Given the description of an element on the screen output the (x, y) to click on. 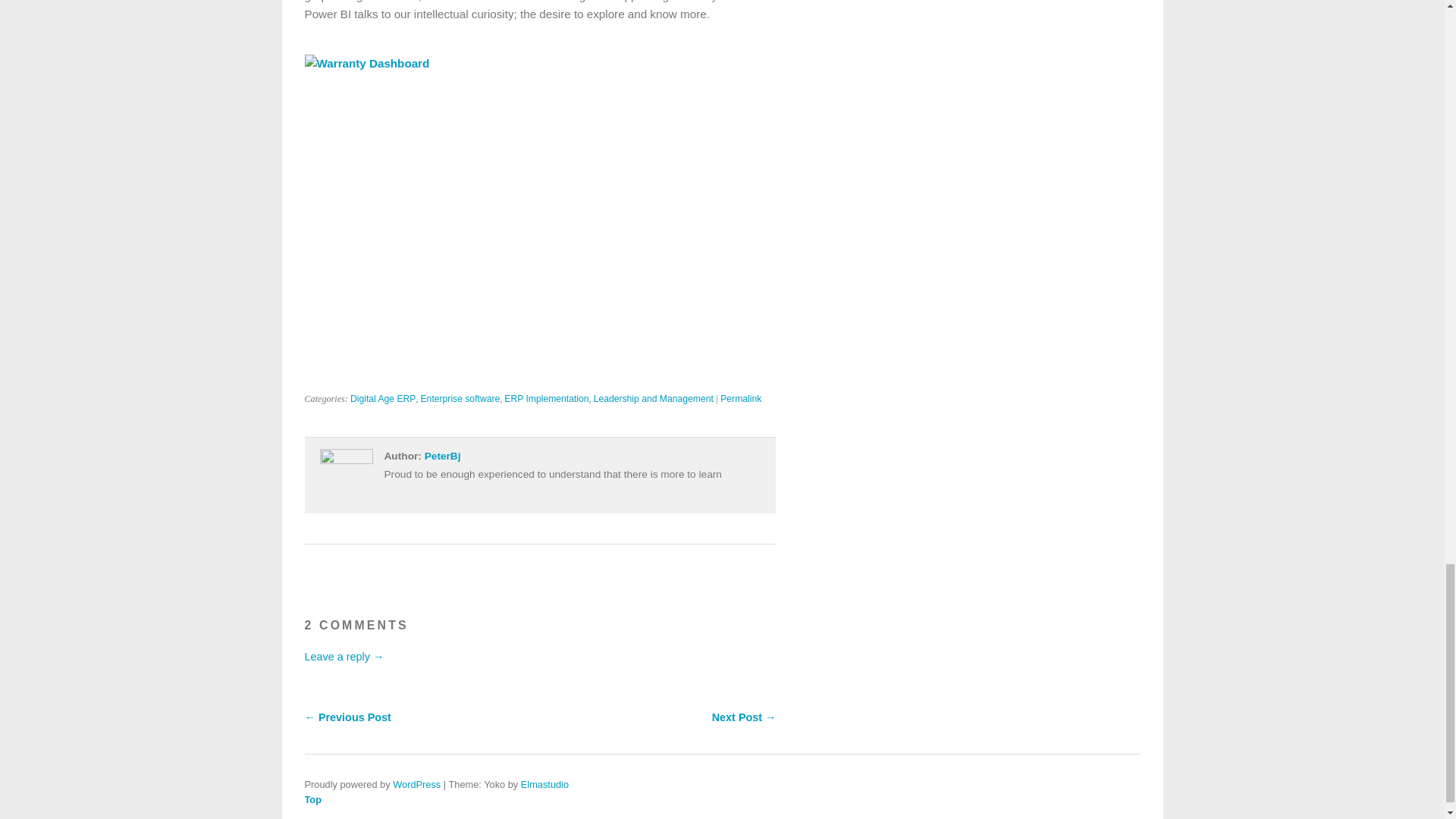
Digital Age ERP (383, 398)
Enterprise software (460, 398)
ERP Implementation (545, 398)
Permalink (740, 398)
PeterBj (443, 455)
PeterBj (443, 455)
Leadership and Management (653, 398)
